Given the description of an element on the screen output the (x, y) to click on. 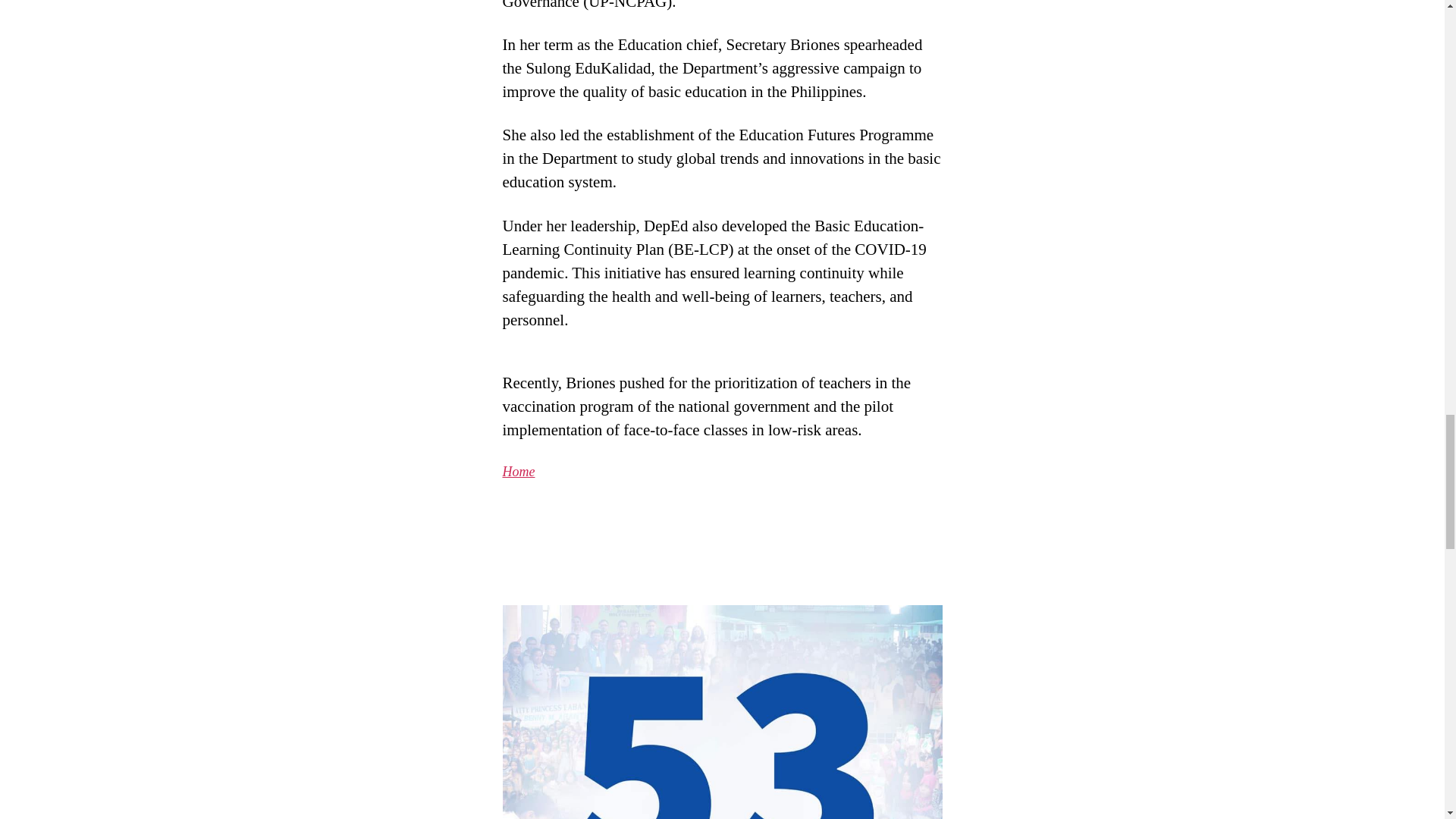
Home (518, 471)
